Given the description of an element on the screen output the (x, y) to click on. 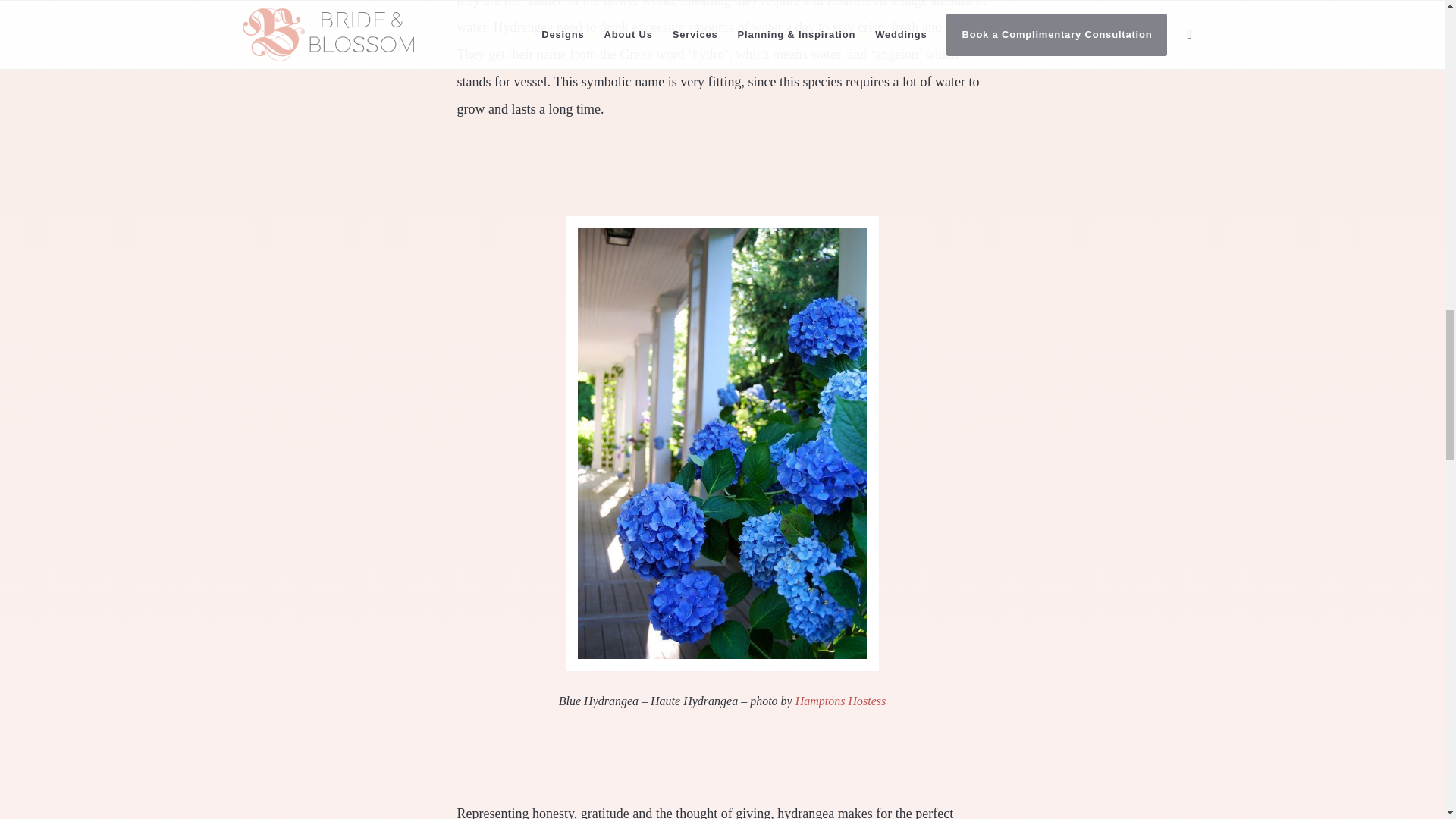
Hamptons Hostess (840, 700)
